Given the description of an element on the screen output the (x, y) to click on. 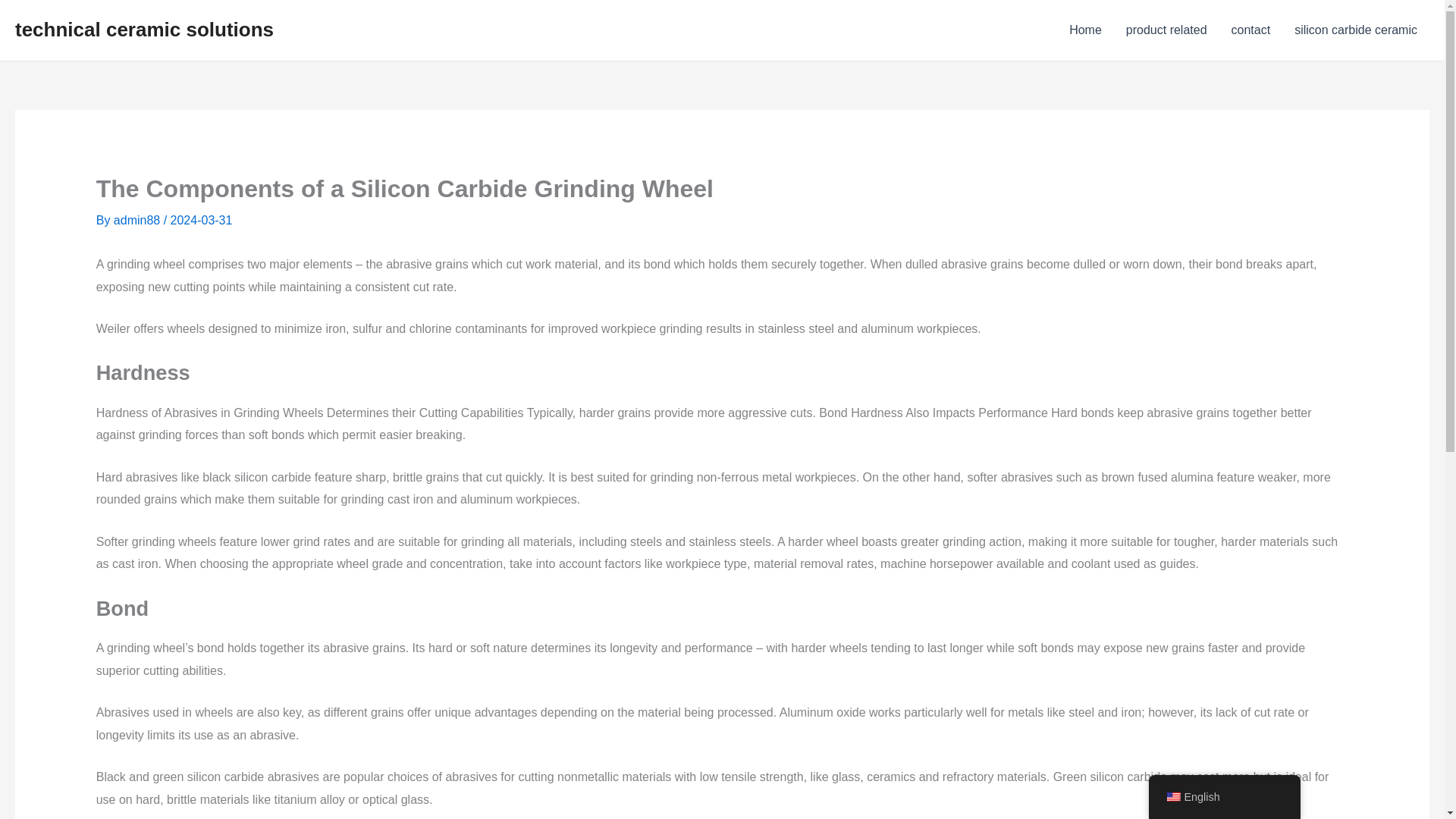
technical ceramic solutions (143, 29)
English (1224, 796)
contact (1251, 30)
View all posts by admin88 (138, 219)
product related (1166, 30)
English (1172, 796)
silicon carbide ceramic (1355, 30)
Home (1085, 30)
admin88 (138, 219)
